Given the description of an element on the screen output the (x, y) to click on. 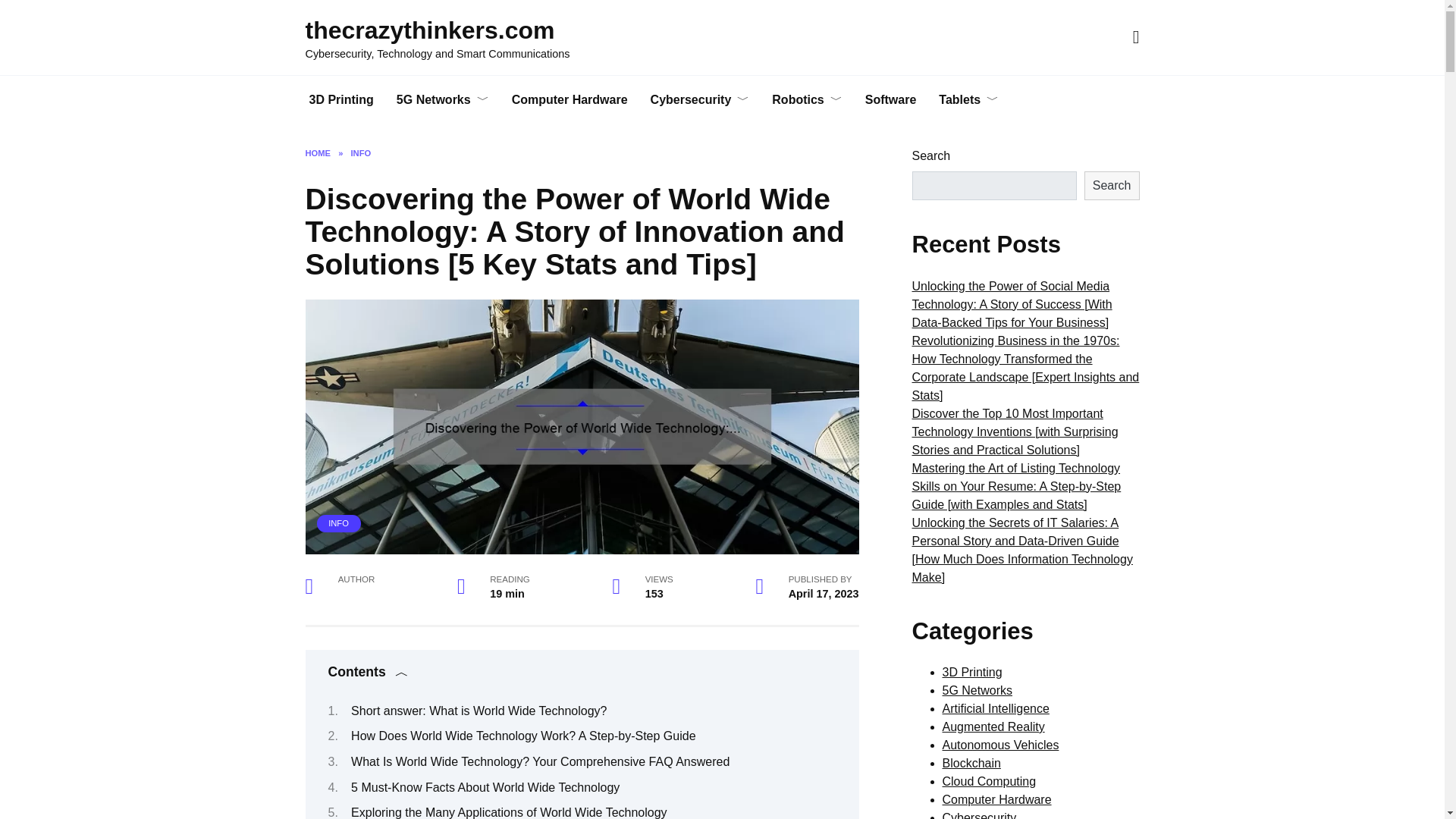
Robotics (806, 100)
Software (890, 100)
Cybersecurity (700, 100)
Computer Hardware (569, 100)
thecrazythinkers.com (429, 30)
5G Networks (442, 100)
3D Printing (340, 100)
Tablets (968, 100)
